Given the description of an element on the screen output the (x, y) to click on. 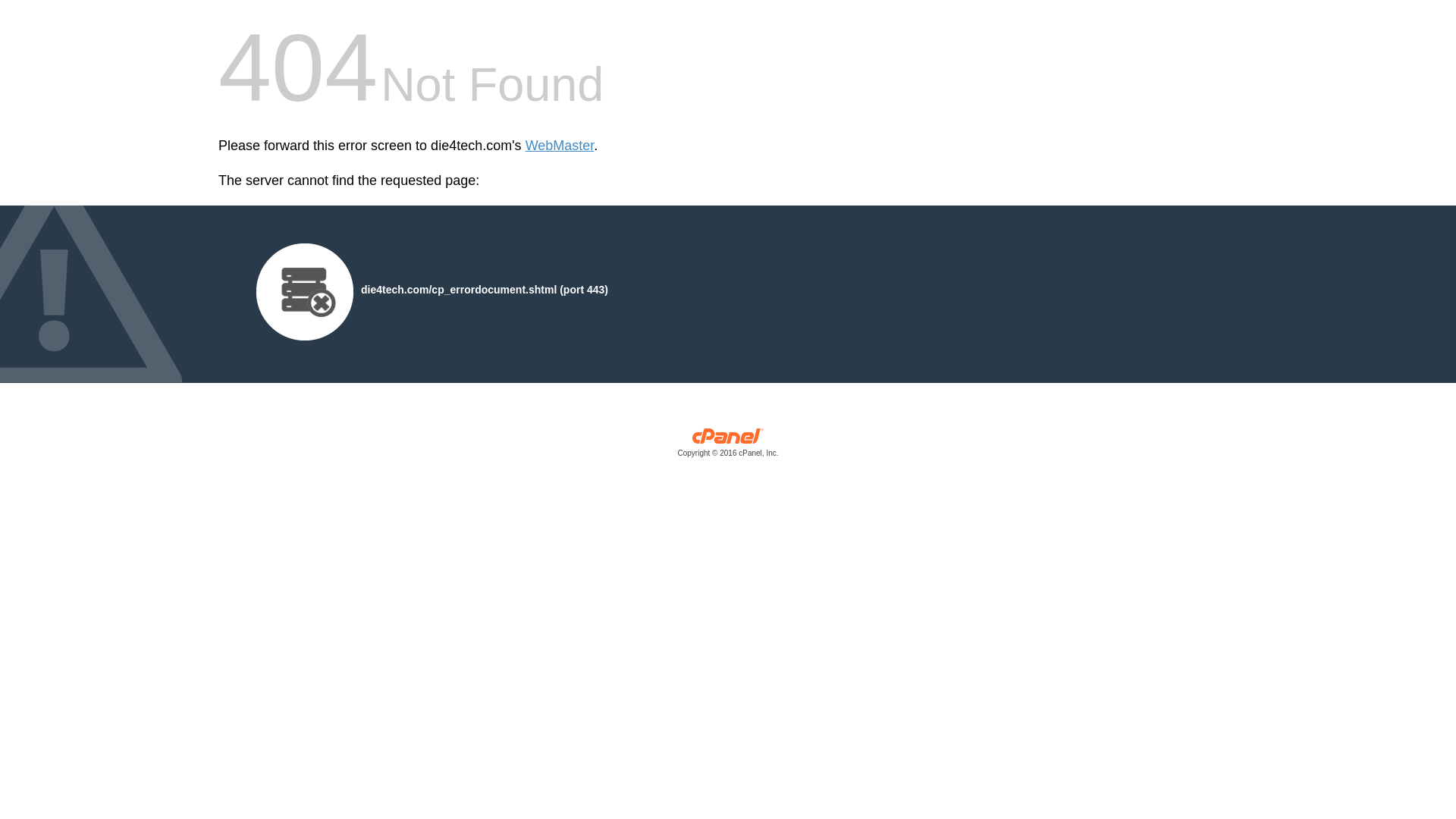
WebMaster (559, 145)
cPanel, Inc. (727, 446)
